Given the description of an element on the screen output the (x, y) to click on. 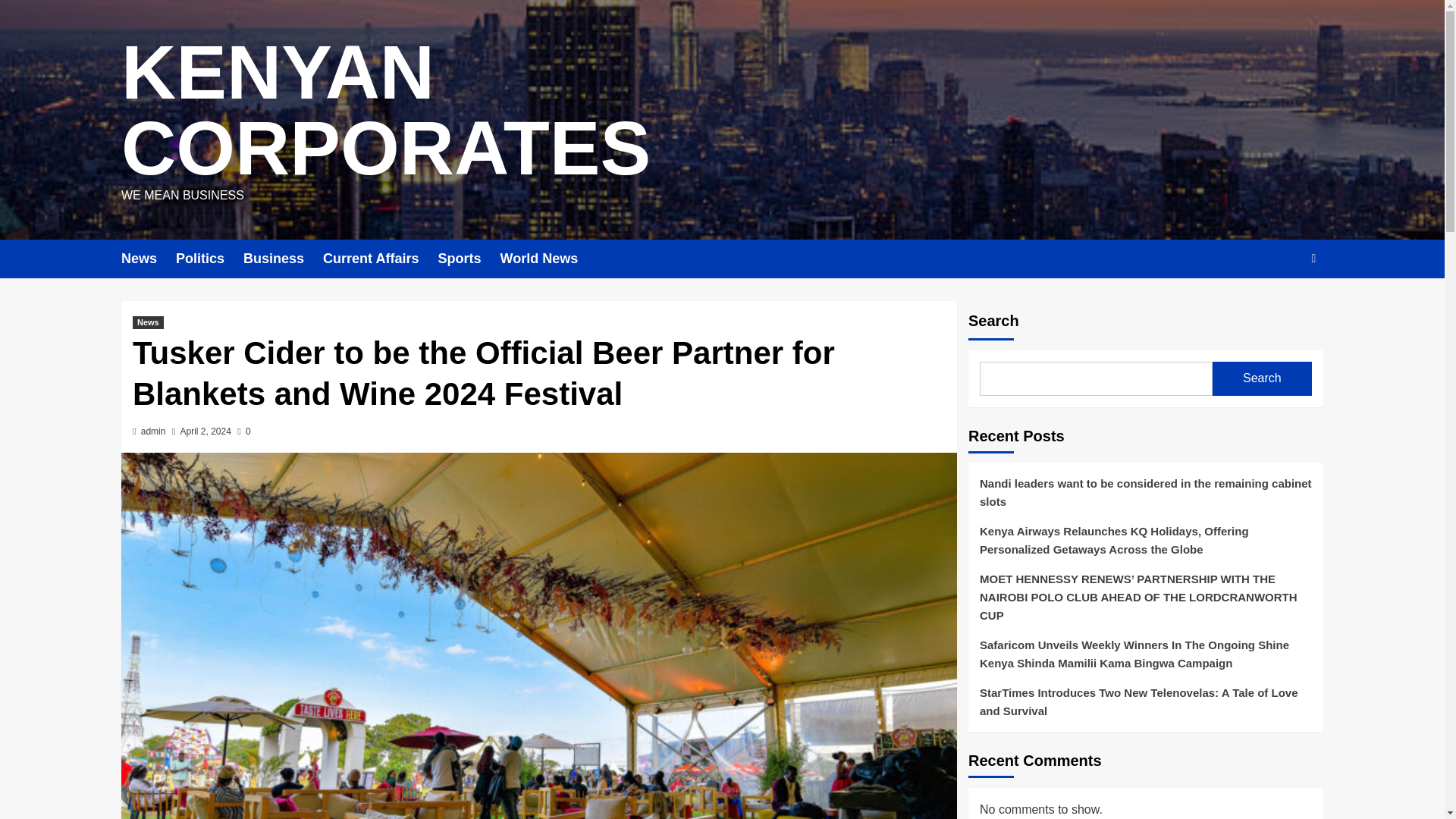
Current Affairs (380, 258)
World News (547, 258)
April 2, 2024 (205, 430)
0 (243, 430)
Search (1278, 305)
News (147, 322)
Sports (468, 258)
Politics (209, 258)
News (148, 258)
Business (283, 258)
Search (1261, 378)
KENYAN CORPORATES (385, 109)
admin (153, 430)
